Given the description of an element on the screen output the (x, y) to click on. 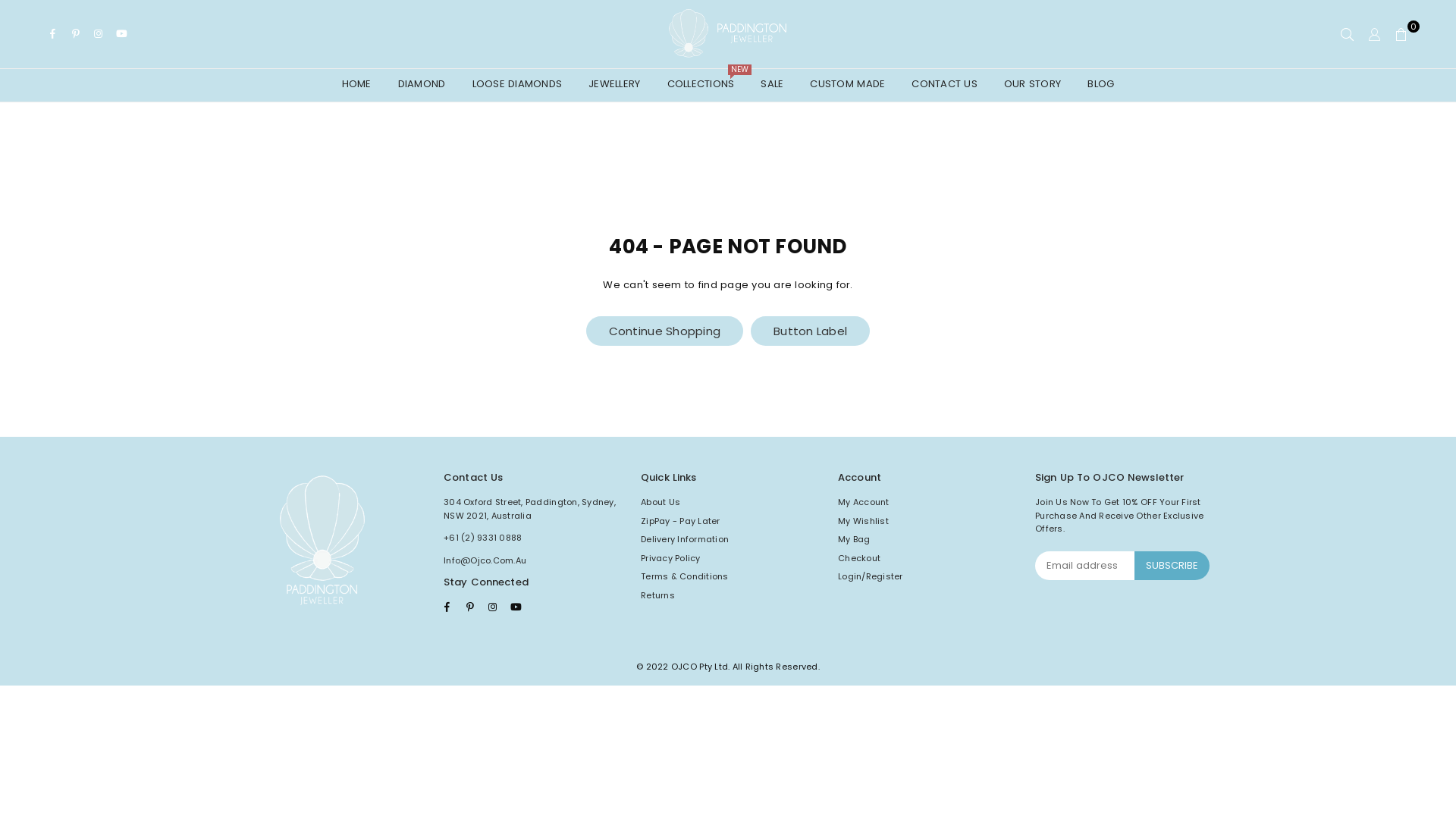
Login/Register Element type: text (870, 576)
Terms & Conditions Element type: text (684, 576)
YouTube Element type: text (515, 607)
SEARCH Element type: hover (1346, 33)
HOME Element type: text (356, 85)
Info@Ojco.Com.Au Element type: text (484, 560)
Delivery Information Element type: text (684, 539)
YouTube Element type: text (121, 34)
OUR STORY Element type: text (1032, 85)
Returns Element type: text (657, 595)
SUBSCRIBE Element type: text (1171, 565)
Logout Element type: hover (1374, 33)
PADDINGTON JEWELLER - OJCO Element type: text (727, 33)
My Account Element type: text (863, 501)
Privacy Policy Element type: text (670, 558)
Pinterest Element type: text (75, 34)
My Wishlist Element type: text (862, 520)
DIAMOND Element type: text (421, 85)
Button Label Element type: text (809, 330)
Facebook Element type: text (447, 607)
Continue Shopping Element type: text (664, 330)
Checkout Element type: text (858, 558)
BLOG Element type: text (1100, 85)
CUSTOM MADE Element type: text (847, 85)
Instagram Element type: text (492, 607)
COLLECTIONS
NEW Element type: text (700, 85)
My Bag Element type: text (853, 539)
ZipPay - Pay Later Element type: text (680, 520)
0 Element type: text (1400, 33)
CONTACT US Element type: text (944, 85)
SALE Element type: text (771, 85)
Facebook Element type: text (52, 34)
Instagram Element type: text (98, 34)
JEWELLERY
NEW Element type: text (614, 85)
LOOSE DIAMONDS Element type: text (517, 85)
+61 (2) 9331 0888 Element type: text (482, 537)
Pinterest Element type: text (469, 607)
About Us Element type: text (660, 501)
